Given the description of an element on the screen output the (x, y) to click on. 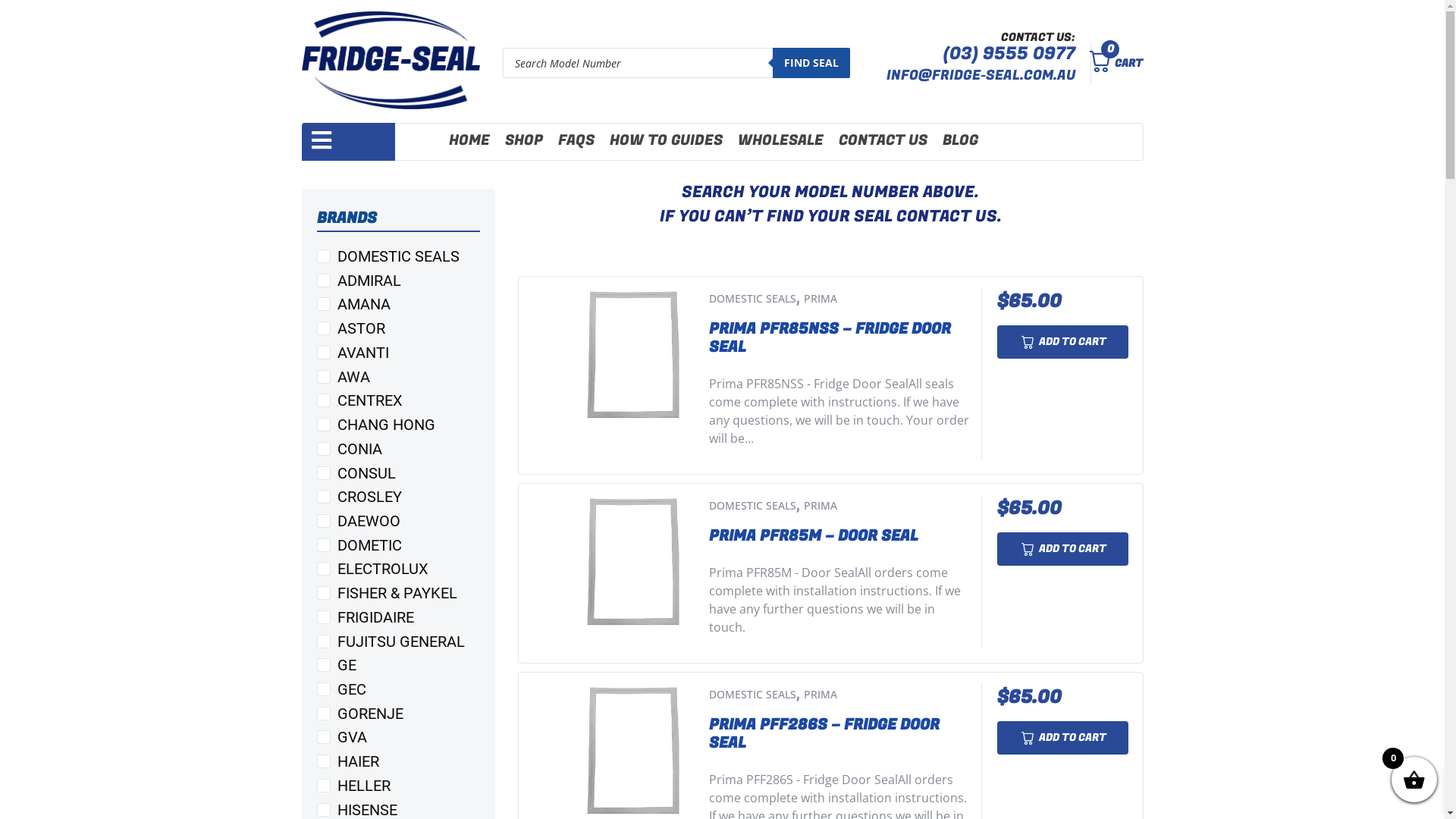
FAQS Element type: text (576, 140)
WHOLESALE Element type: text (780, 140)
SHOP Element type: text (523, 140)
PRIMA Element type: text (820, 694)
CONTACT US Element type: text (882, 140)
FIND SEAL Element type: text (811, 62)
HOME Element type: text (468, 140)
PRIMA Element type: text (820, 298)
(03) 9555 0977 Element type: text (1009, 53)
INFO@FRIDGE-SEAL.COM.AU Element type: text (980, 75)
CART
0 Element type: text (1111, 62)
DOMESTIC SEALS Element type: text (752, 298)
ADD TO CART Element type: text (1063, 341)
ADD TO CART Element type: text (1063, 737)
PRIMA Element type: text (820, 505)
DOMESTIC SEALS Element type: text (752, 505)
BLOG Element type: text (960, 140)
ADD TO CART Element type: text (1063, 548)
HOW TO GUIDES Element type: text (665, 140)
DOMESTIC SEALS Element type: text (752, 694)
